Given the description of an element on the screen output the (x, y) to click on. 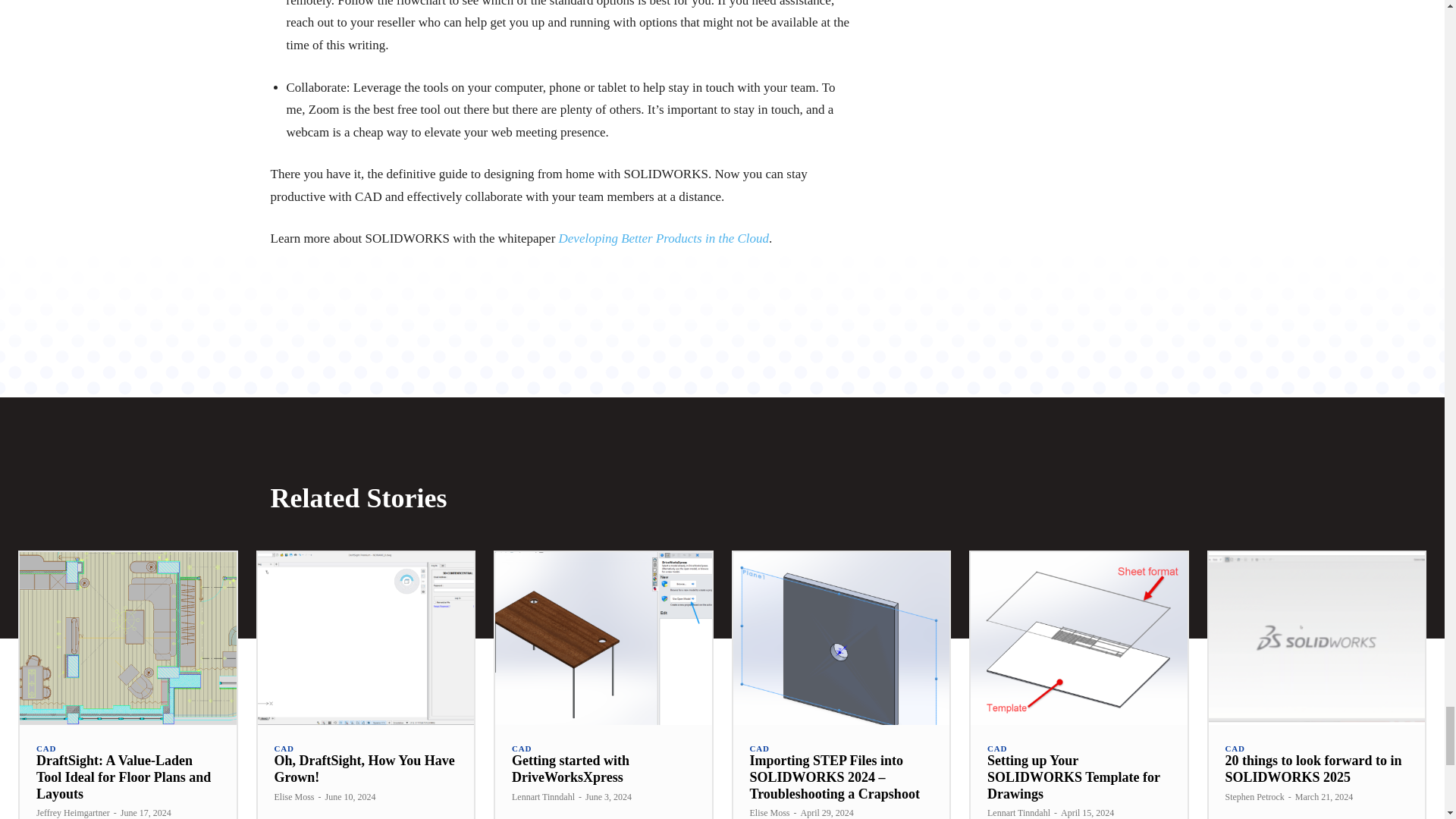
Developing Better Products in the Cloud (663, 237)
Oh, DraftSight, How You Have Grown! (364, 768)
Getting started with DriveWorksXpress (603, 638)
Oh, DraftSight, How You Have Grown! (365, 638)
